Given the description of an element on the screen output the (x, y) to click on. 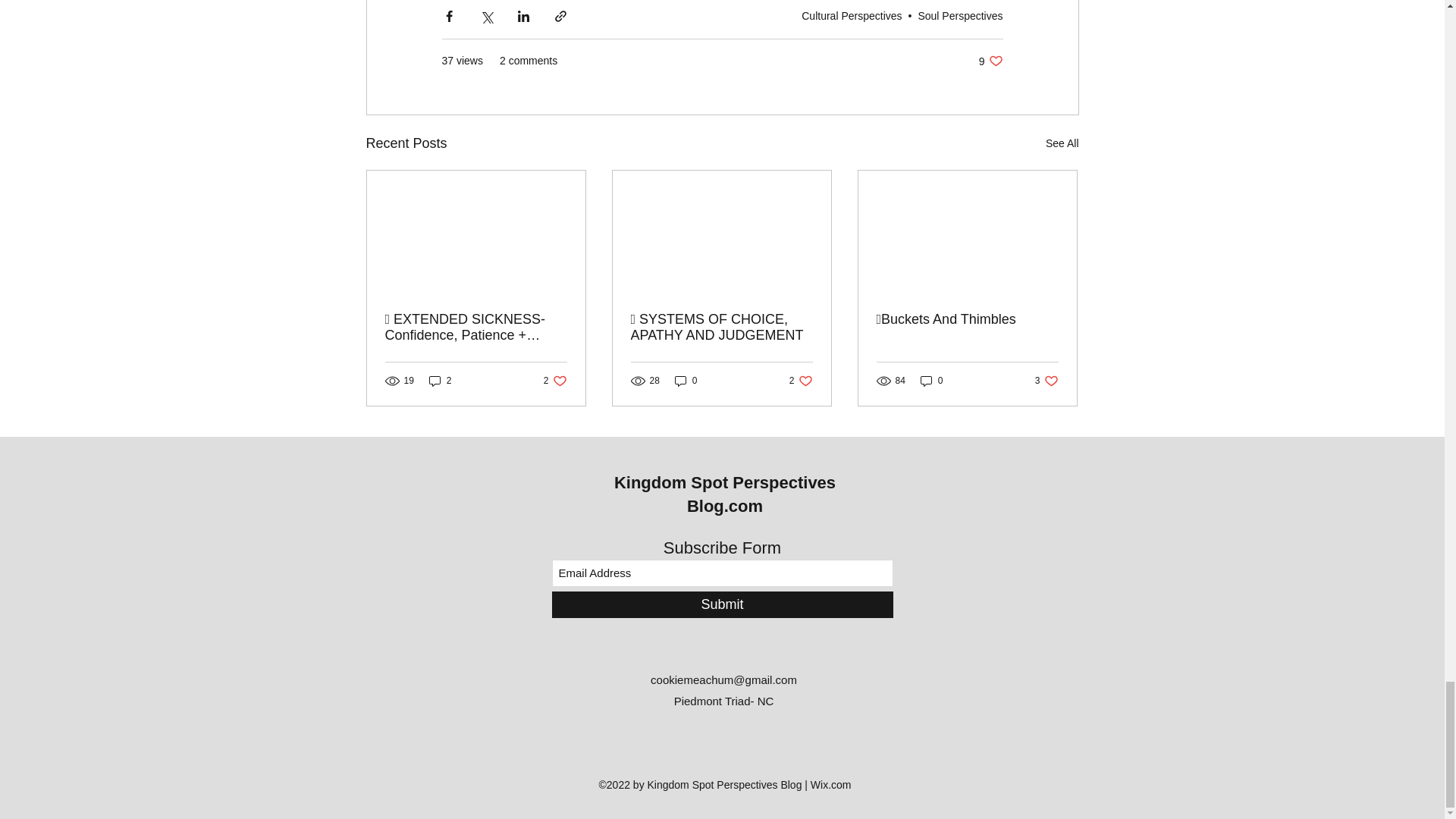
Cultural Perspectives (555, 380)
See All (851, 15)
Soul Perspectives (990, 60)
2 (1061, 143)
